Given the description of an element on the screen output the (x, y) to click on. 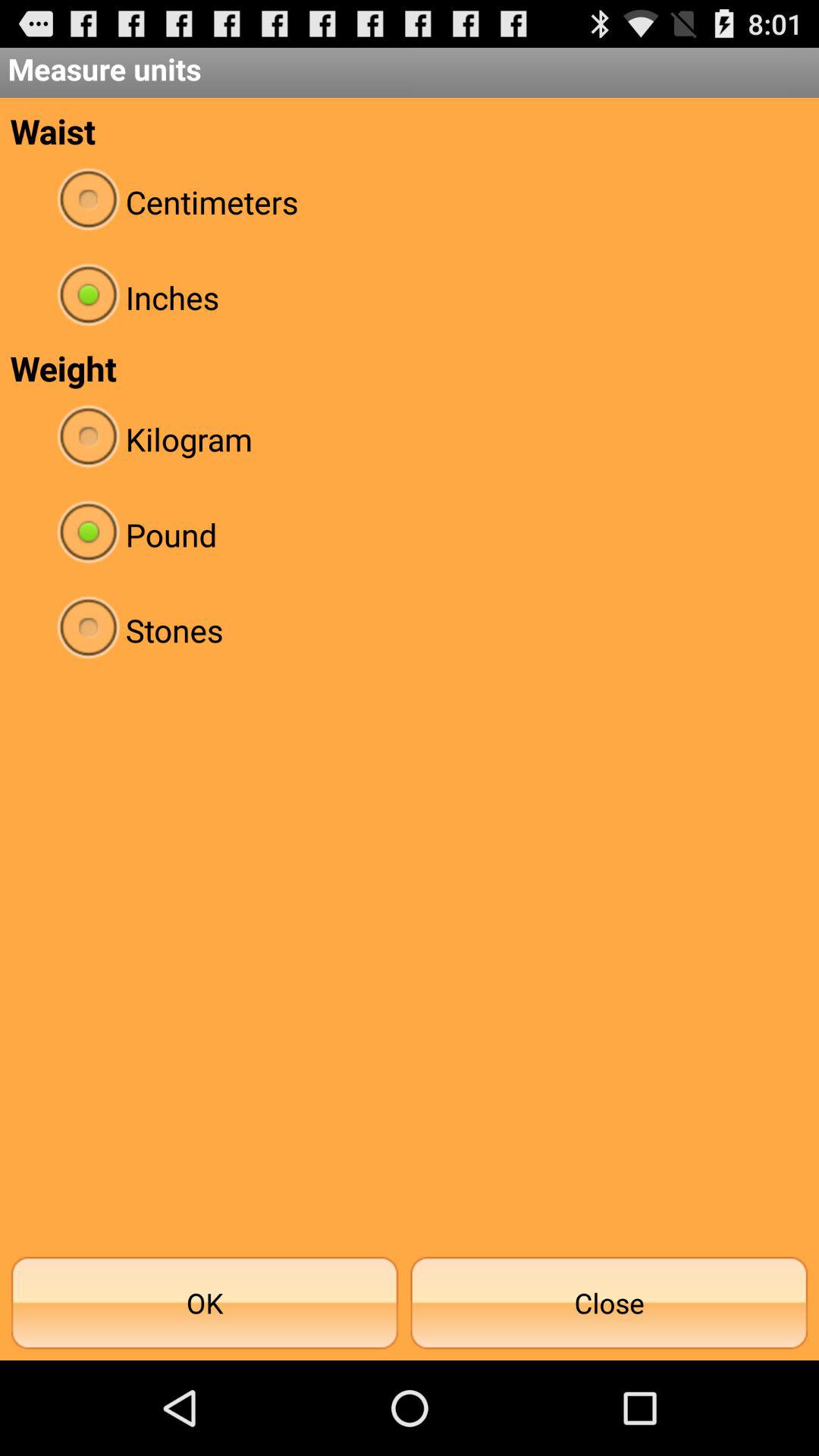
tap radio button below the centimeters icon (409, 297)
